Given the description of an element on the screen output the (x, y) to click on. 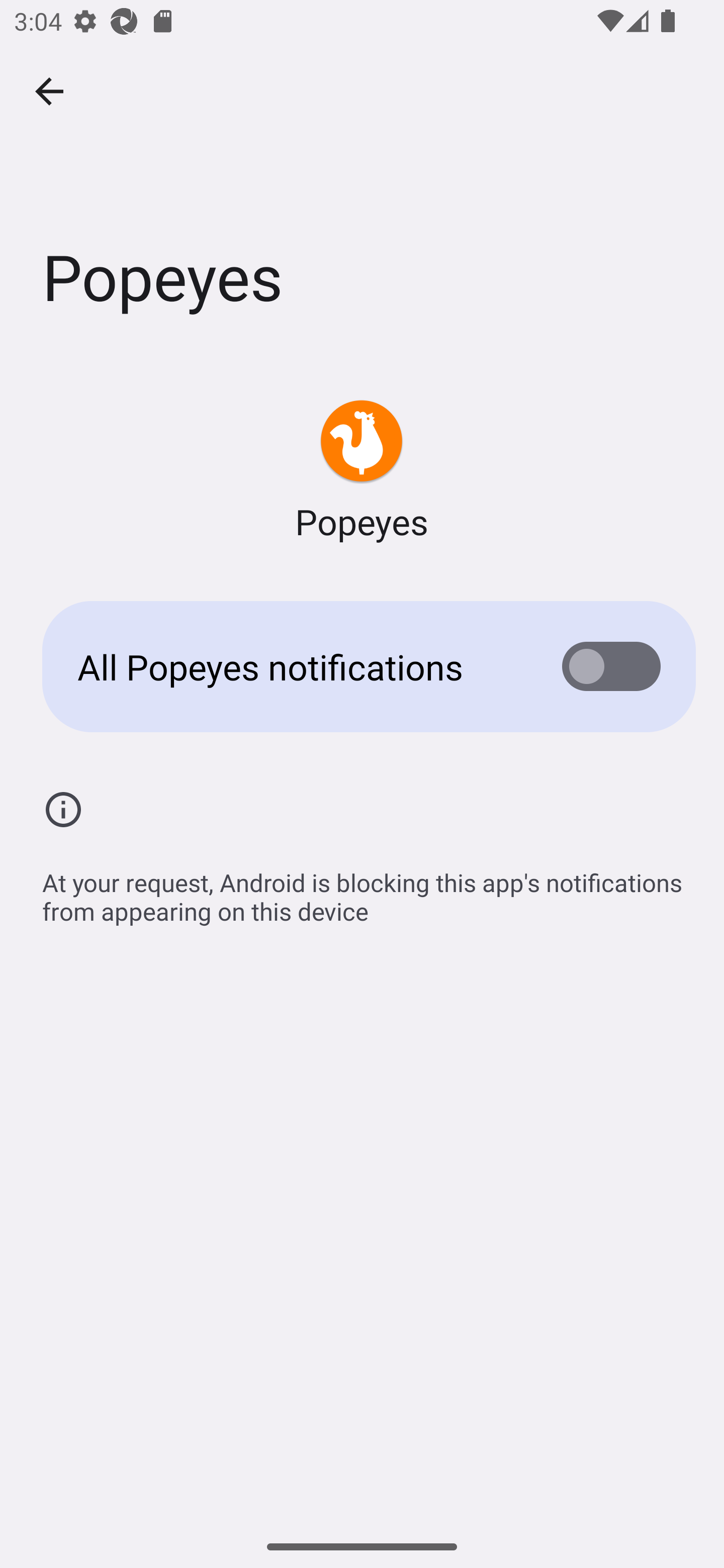
Navigate up (49, 91)
Popeyes (361, 471)
All Popeyes notifications (362, 666)
